Given the description of an element on the screen output the (x, y) to click on. 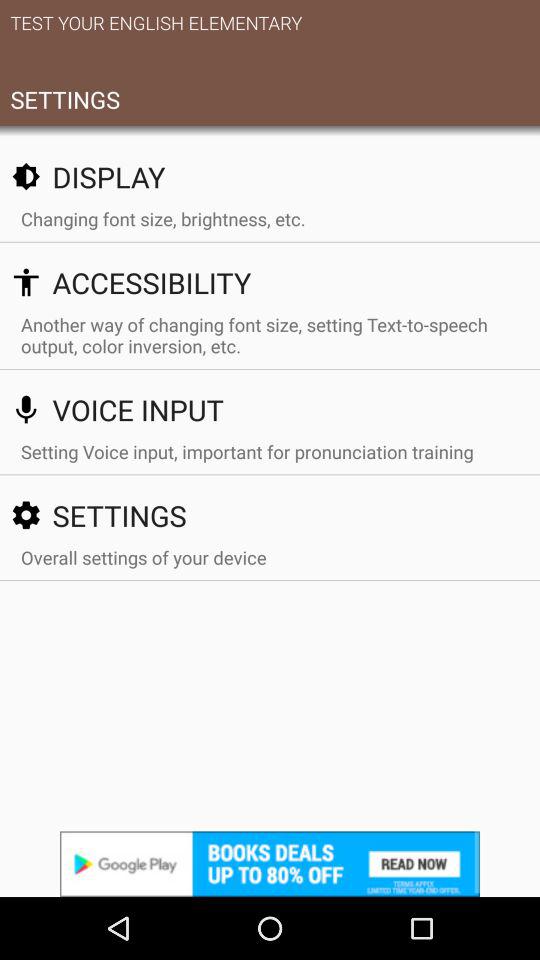
go to advertisements website (270, 864)
